Given the description of an element on the screen output the (x, y) to click on. 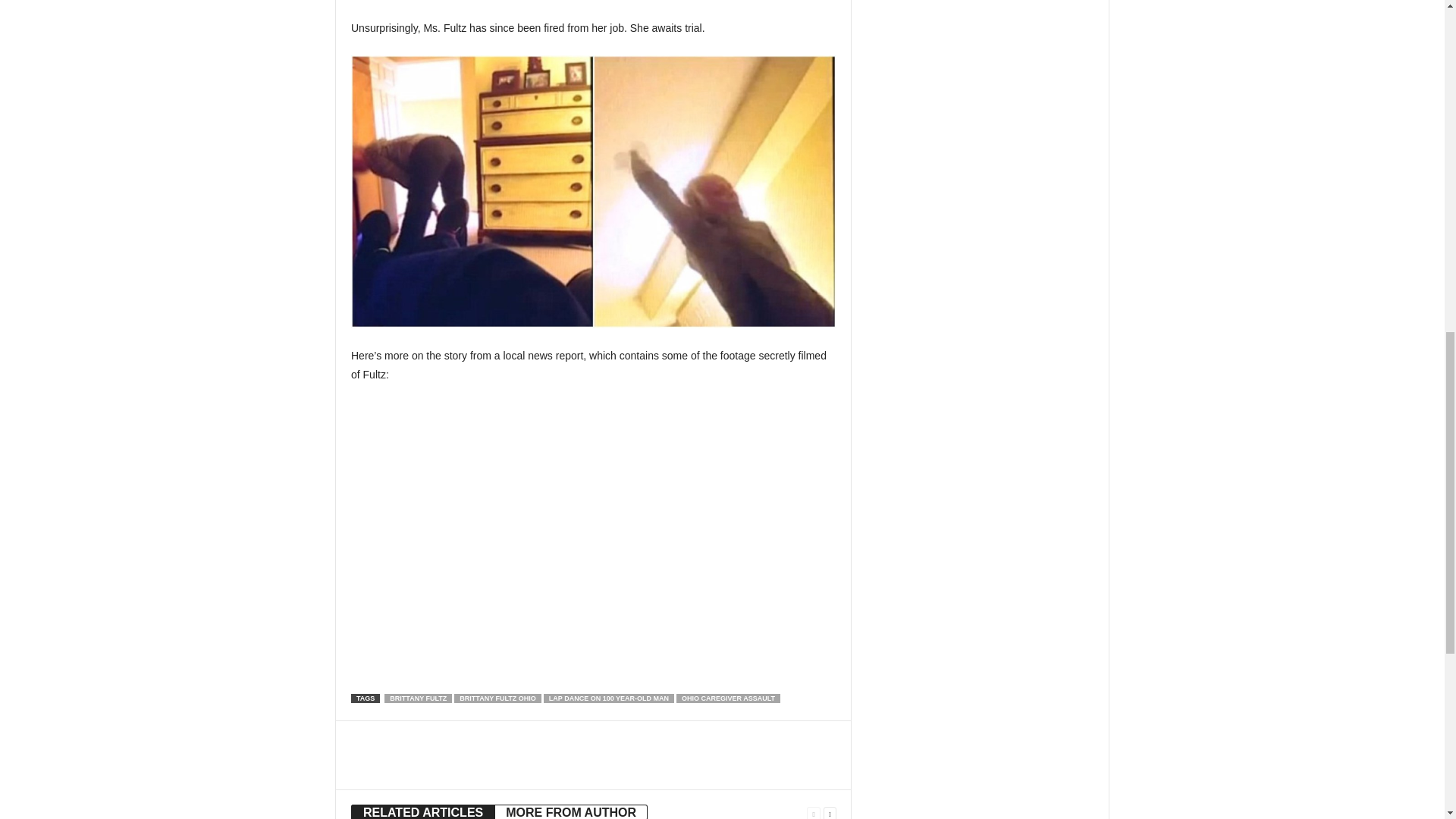
YouTube player (592, 538)
bottomFacebookLike (390, 736)
